Given the description of an element on the screen output the (x, y) to click on. 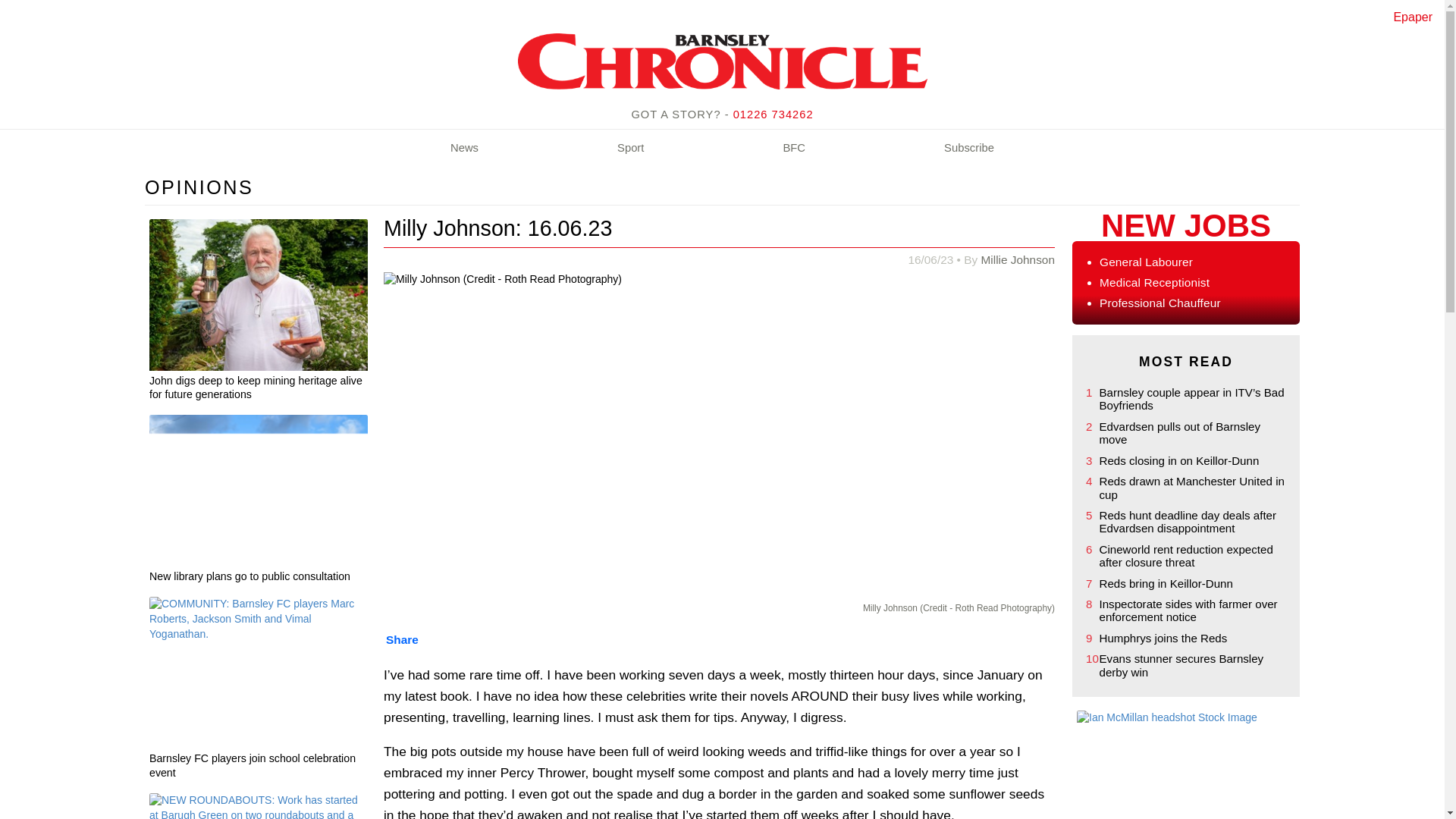
01226 734262 (773, 114)
Epaper (1412, 16)
Sport (630, 148)
News (464, 148)
BFC (793, 148)
Subscribe (968, 148)
